Given the description of an element on the screen output the (x, y) to click on. 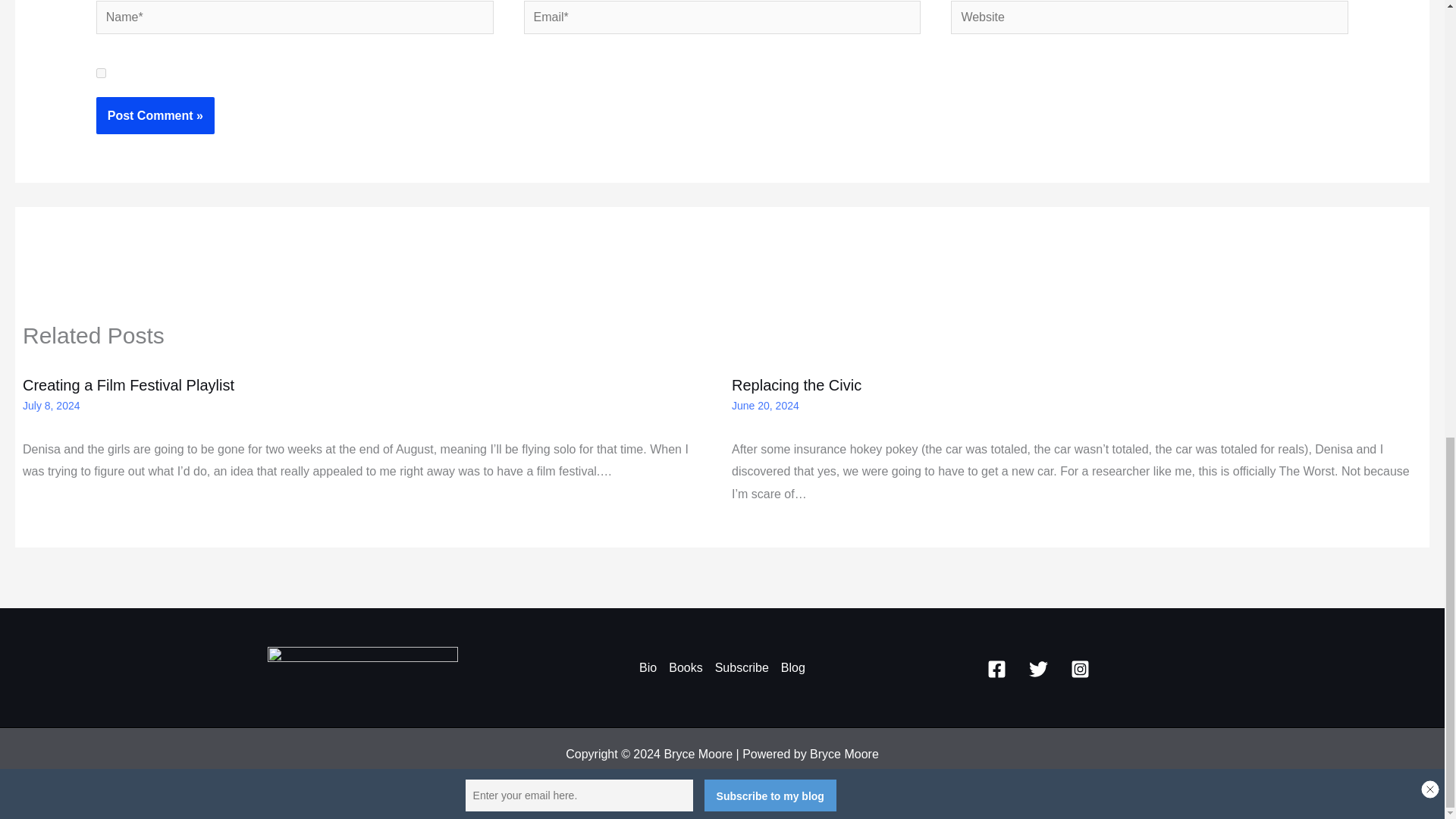
Creating a Film Festival Playlist (128, 384)
1 (101, 72)
Subscribe (741, 667)
Books (684, 667)
Bio (650, 667)
Replacing the Civic (796, 384)
